Given the description of an element on the screen output the (x, y) to click on. 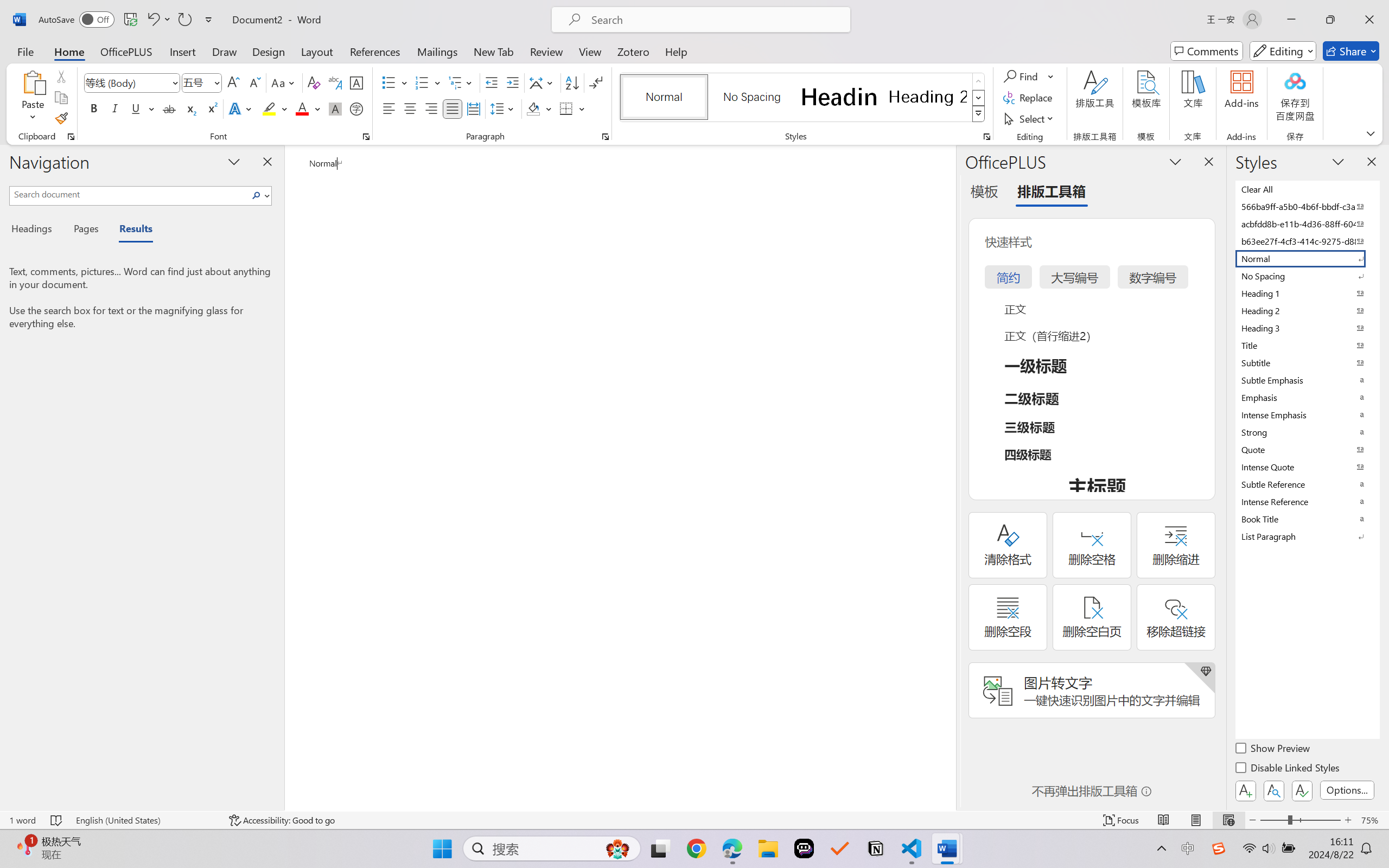
Quick Access Toolbar (127, 19)
Distributed (473, 108)
Italic (115, 108)
Font... (365, 136)
List Paragraph (1306, 536)
